Given the description of an element on the screen output the (x, y) to click on. 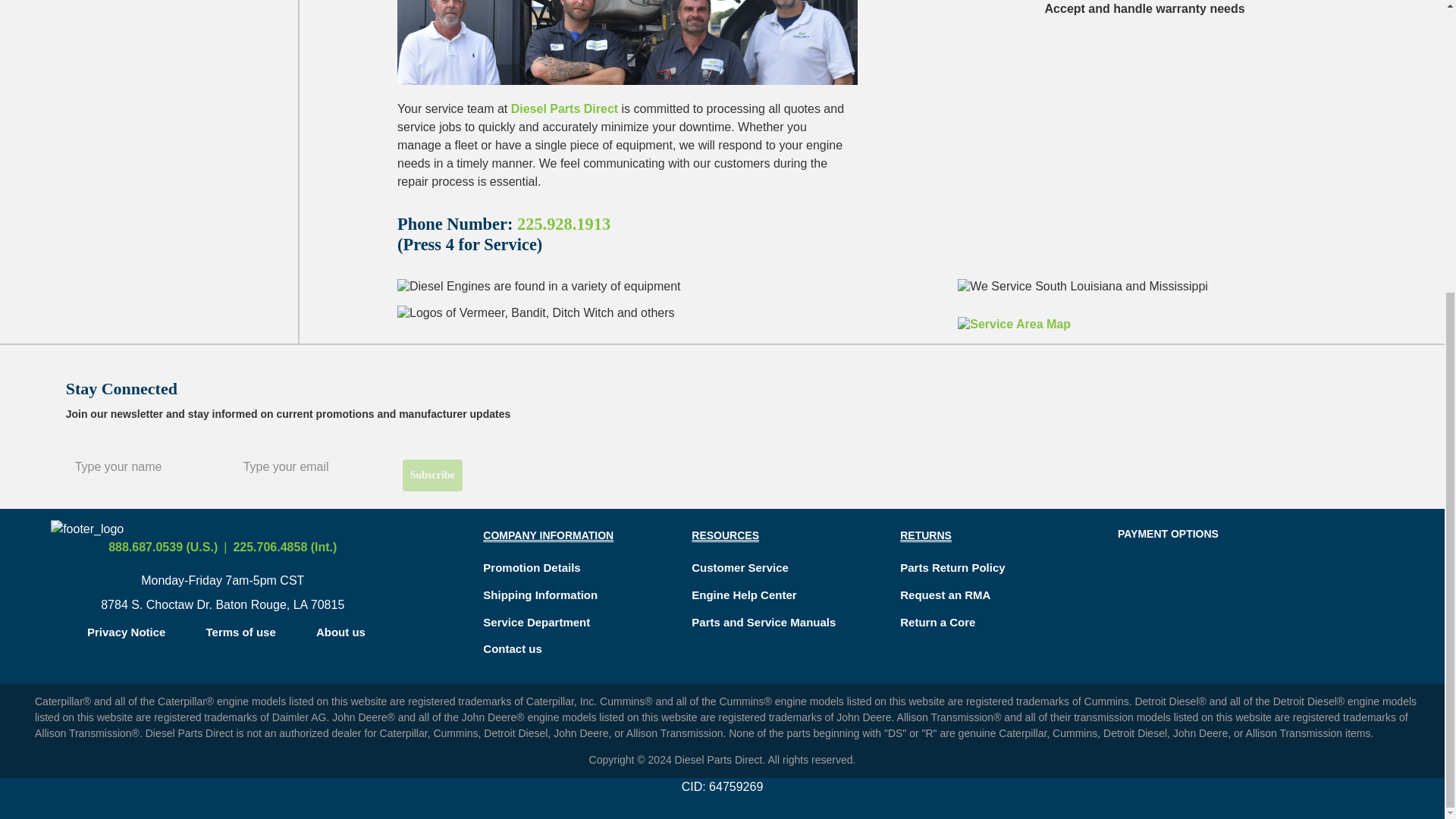
Diesel Parts Direct services Louisiana and South Mississippi (1014, 318)
Parts and Service Manuals (763, 621)
Return a Core (937, 621)
Terms of use (241, 631)
Contact us (512, 648)
Parts Return Policy (951, 567)
Diesel Parts Direct Service Team (627, 48)
Request an RMA (944, 594)
Shipping Information (539, 594)
Service Department (536, 621)
